Given the description of an element on the screen output the (x, y) to click on. 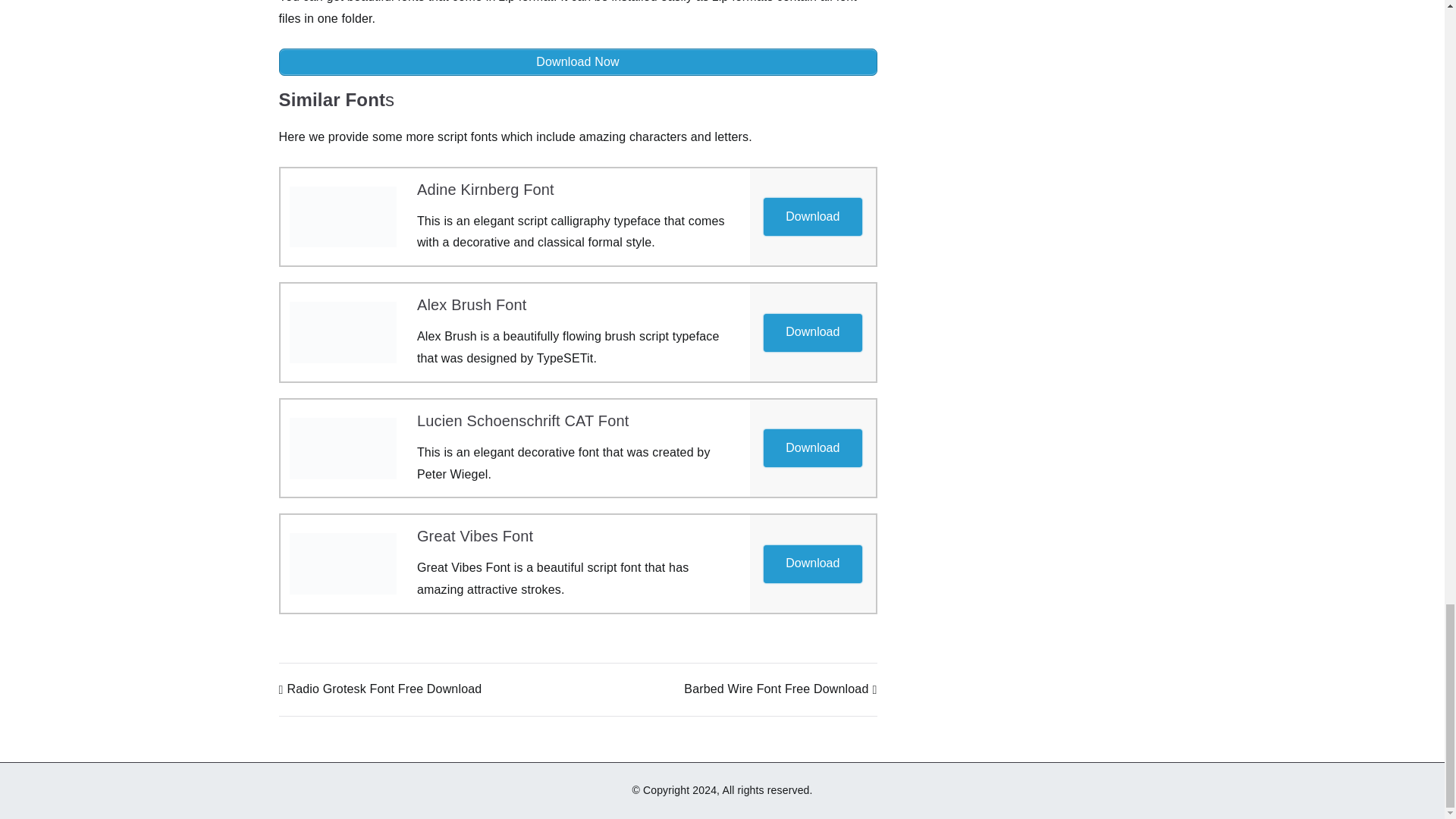
Download (813, 447)
Download Now (578, 62)
Download (811, 564)
Download (811, 216)
Barbed Wire Font Free Download (780, 688)
Radio Grotesk Font Free Download (380, 688)
Download (813, 215)
Download (813, 331)
Download (813, 562)
Download (811, 332)
Download (811, 447)
